Given the description of an element on the screen output the (x, y) to click on. 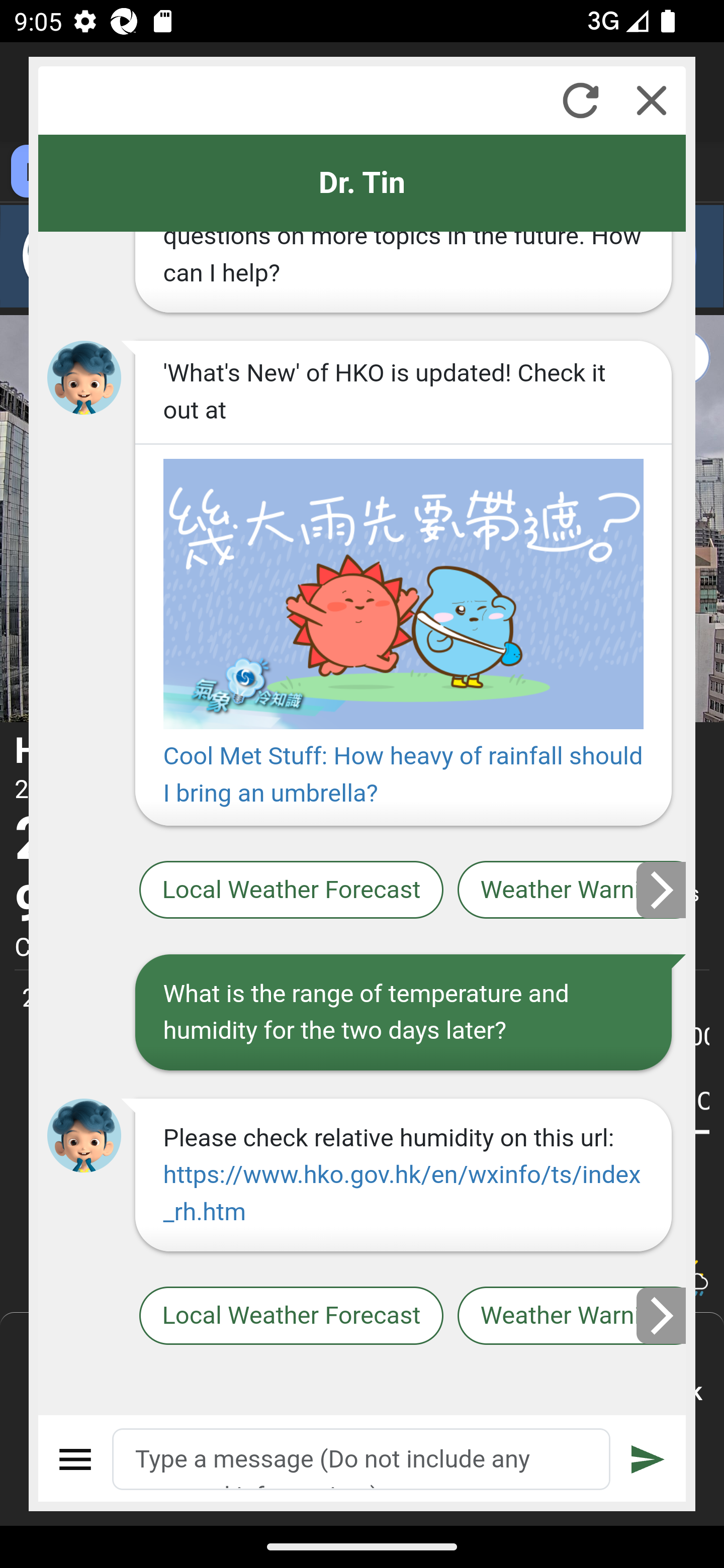
Refresh (580, 100)
Close (651, 100)
Local Weather Forecast (291, 889)
Weather Warnings (571, 889)
Next slide (661, 889)
https://www.hko.gov.hk/en/wxinfo/ts/index_rh.htm (401, 1193)
Local Weather Forecast (291, 1315)
Weather Warnings (571, 1315)
Next slide (661, 1316)
Menu (75, 1458)
Submit (648, 1458)
